Given the description of an element on the screen output the (x, y) to click on. 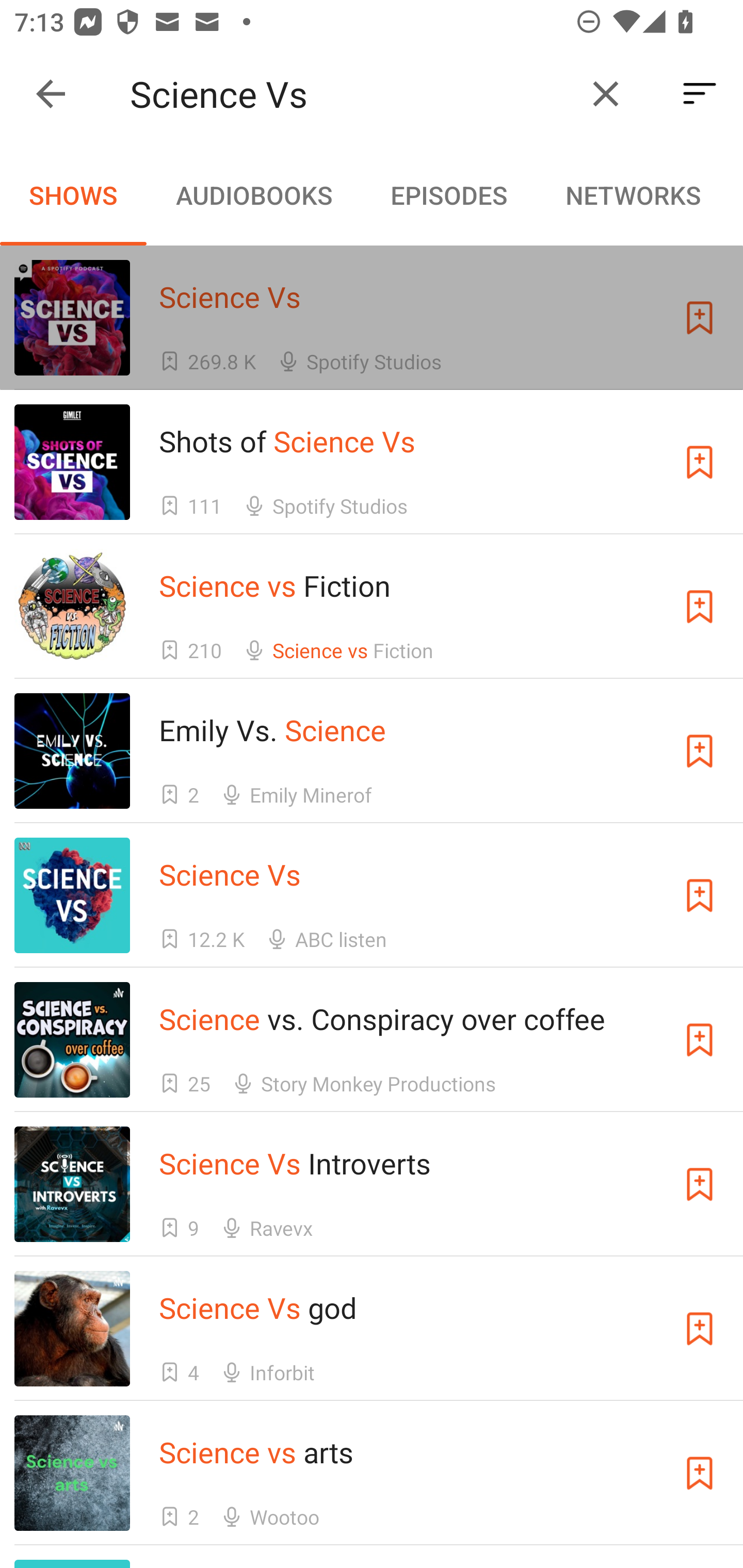
Collapse (50, 93)
Clear query (605, 93)
Sort By (699, 93)
Science Vs (349, 94)
SHOWS (73, 195)
AUDIOBOOKS (253, 195)
EPISODES (448, 195)
NETWORKS (632, 195)
Subscribe (699, 317)
Subscribe (699, 462)
Subscribe (699, 606)
Subscribe (699, 751)
Subscribe (699, 895)
Subscribe (699, 1039)
Subscribe (699, 1183)
Subscribe (699, 1328)
Subscribe (699, 1472)
